Given the description of an element on the screen output the (x, y) to click on. 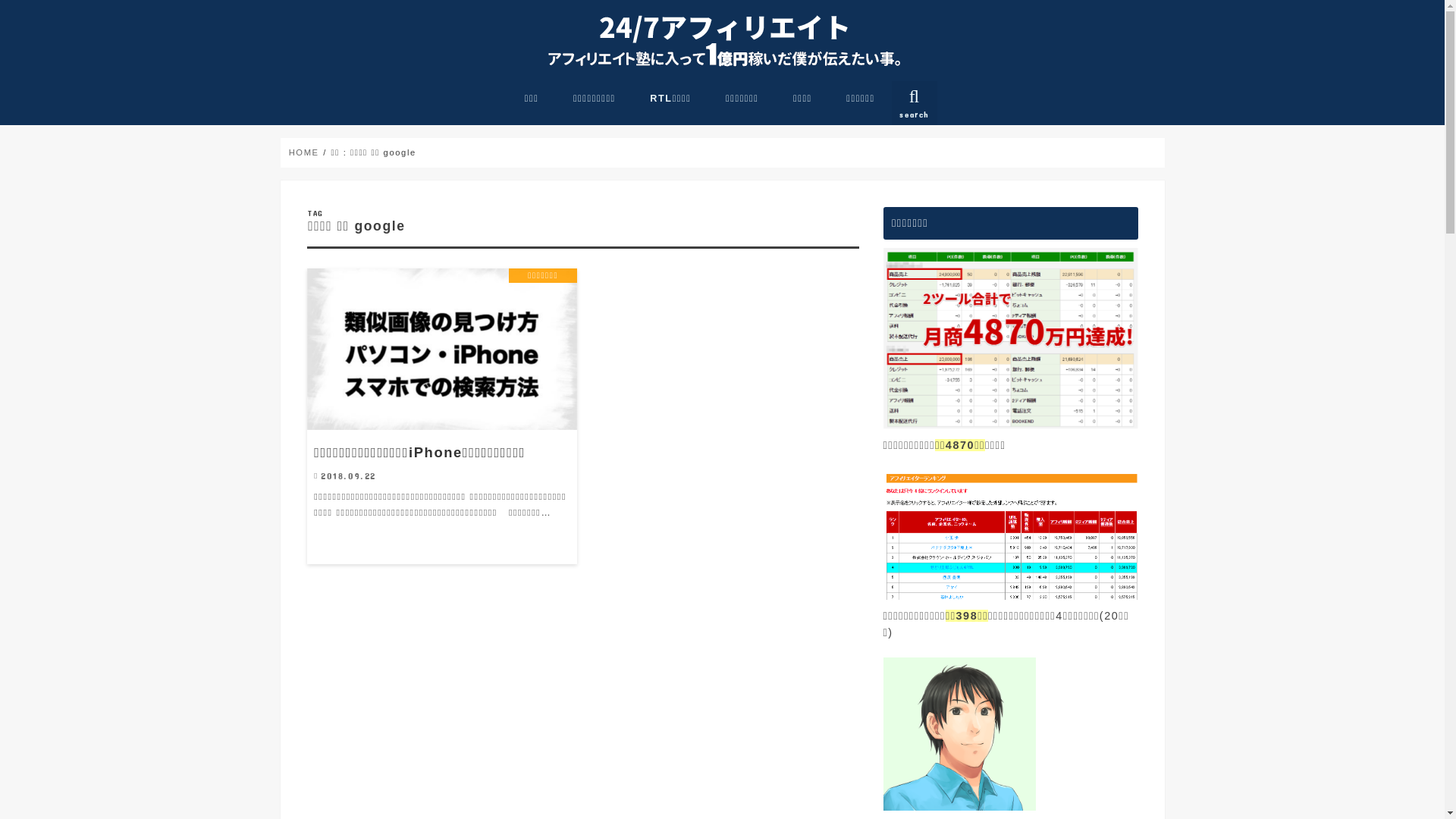
HOME Element type: text (303, 151)
search Element type: text (914, 103)
